Given the description of an element on the screen output the (x, y) to click on. 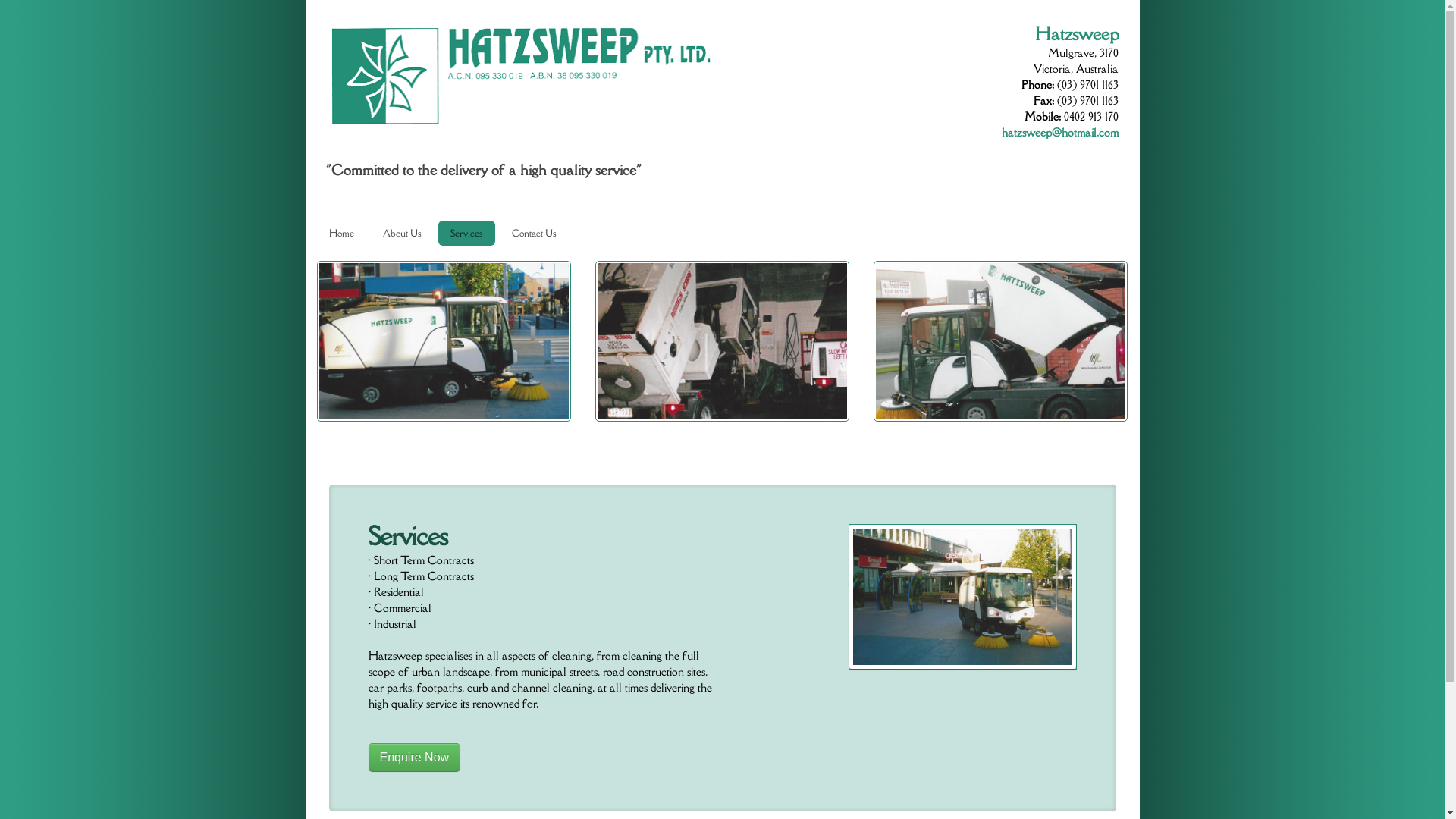
hatzsweep@hotmail.com Element type: text (1059, 132)
Contact Us Element type: text (532, 232)
Enquire Now Element type: text (414, 757)
Services Element type: text (466, 232)
About Us Element type: text (401, 232)
Home Element type: text (341, 232)
